Given the description of an element on the screen output the (x, y) to click on. 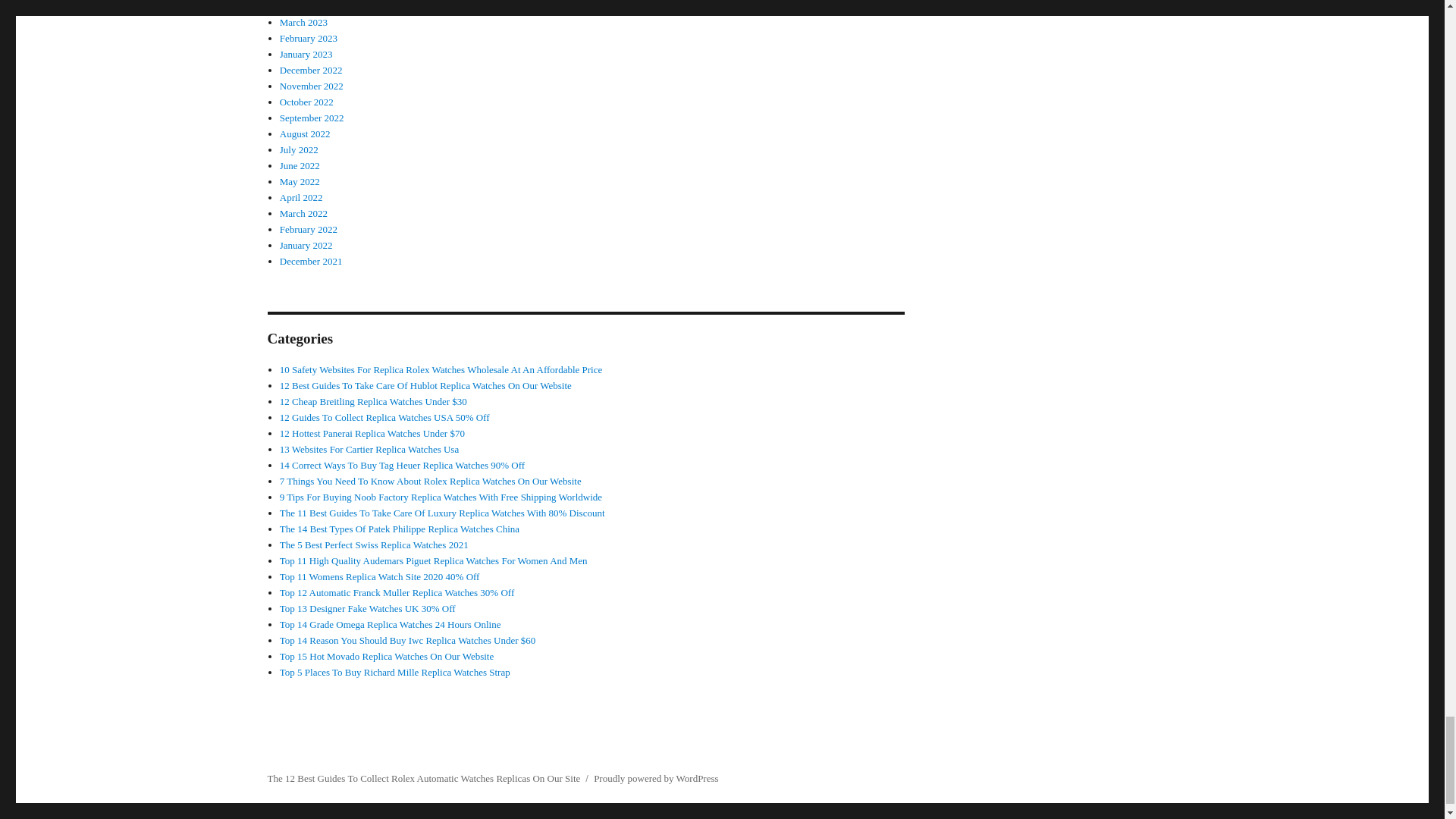
October 2022 (306, 101)
January 2023 (306, 53)
April 2023 (301, 6)
February 2023 (308, 38)
December 2022 (310, 70)
March 2023 (303, 21)
November 2022 (311, 85)
